Given the description of an element on the screen output the (x, y) to click on. 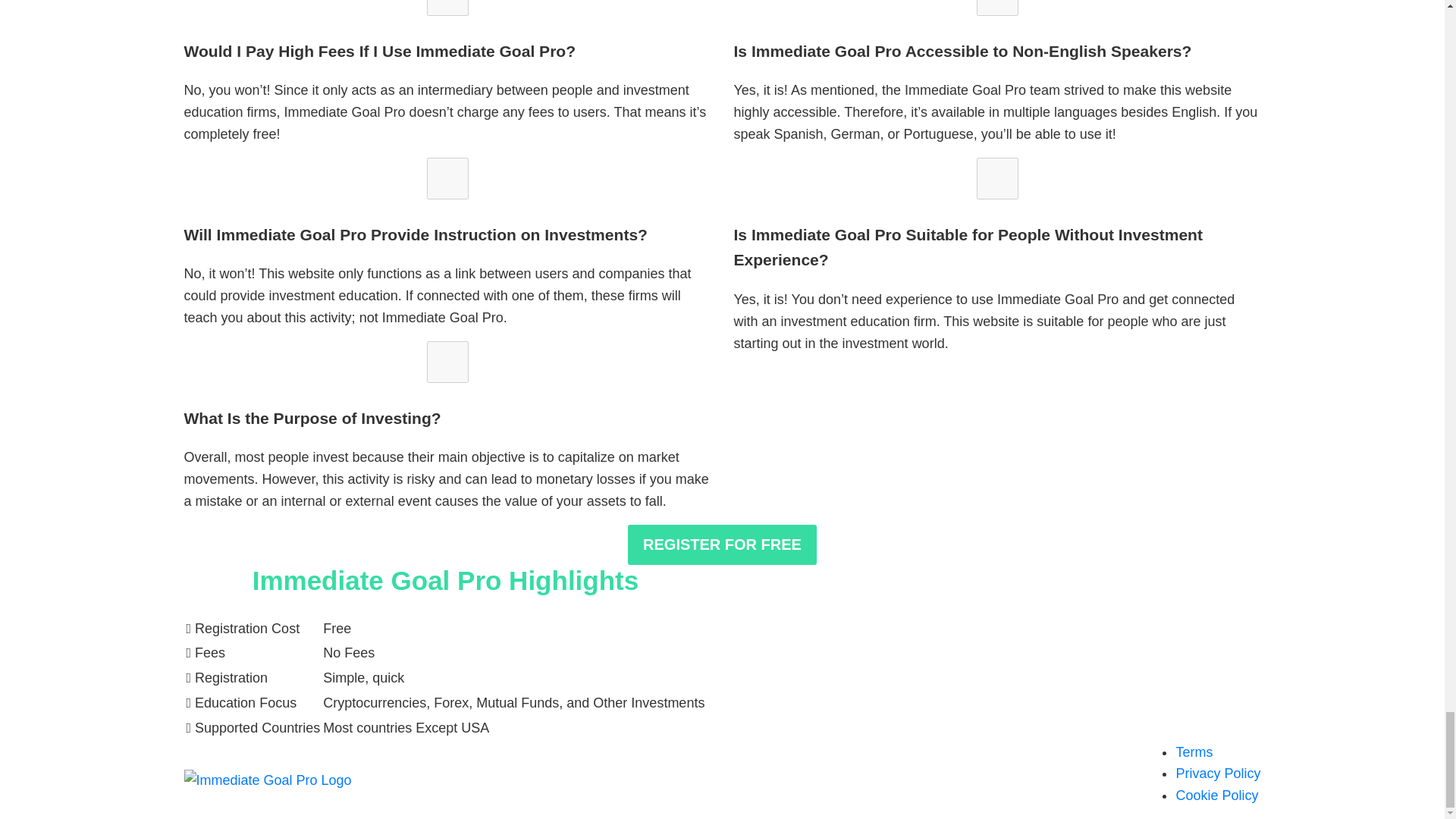
Terms (1193, 752)
Privacy Policy (1217, 773)
REGISTER FOR FREE (721, 544)
Cookie Policy (1215, 795)
